Given the description of an element on the screen output the (x, y) to click on. 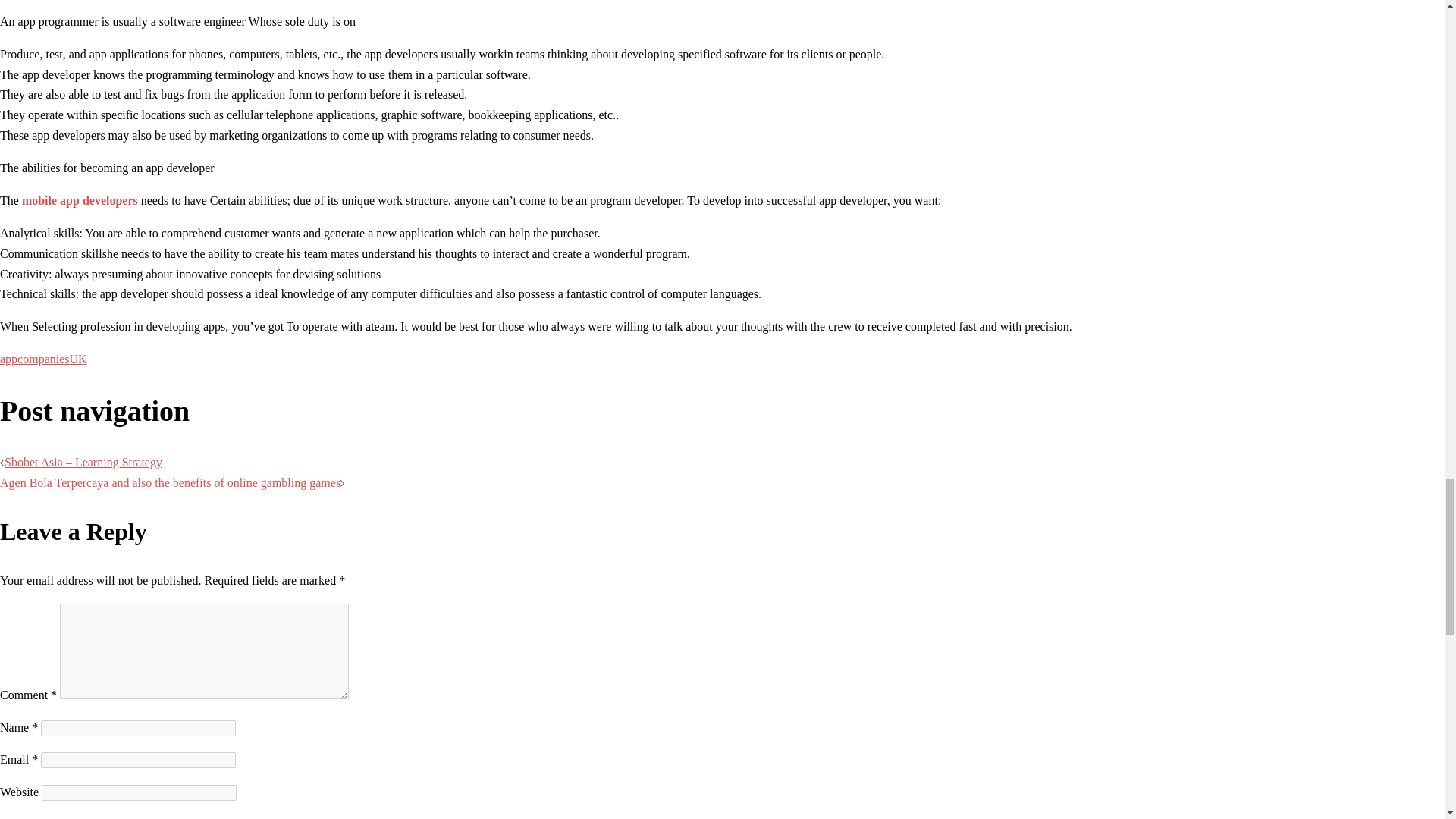
mobile app developers (79, 200)
app (8, 358)
companies (42, 358)
UK (78, 358)
